Given the description of an element on the screen output the (x, y) to click on. 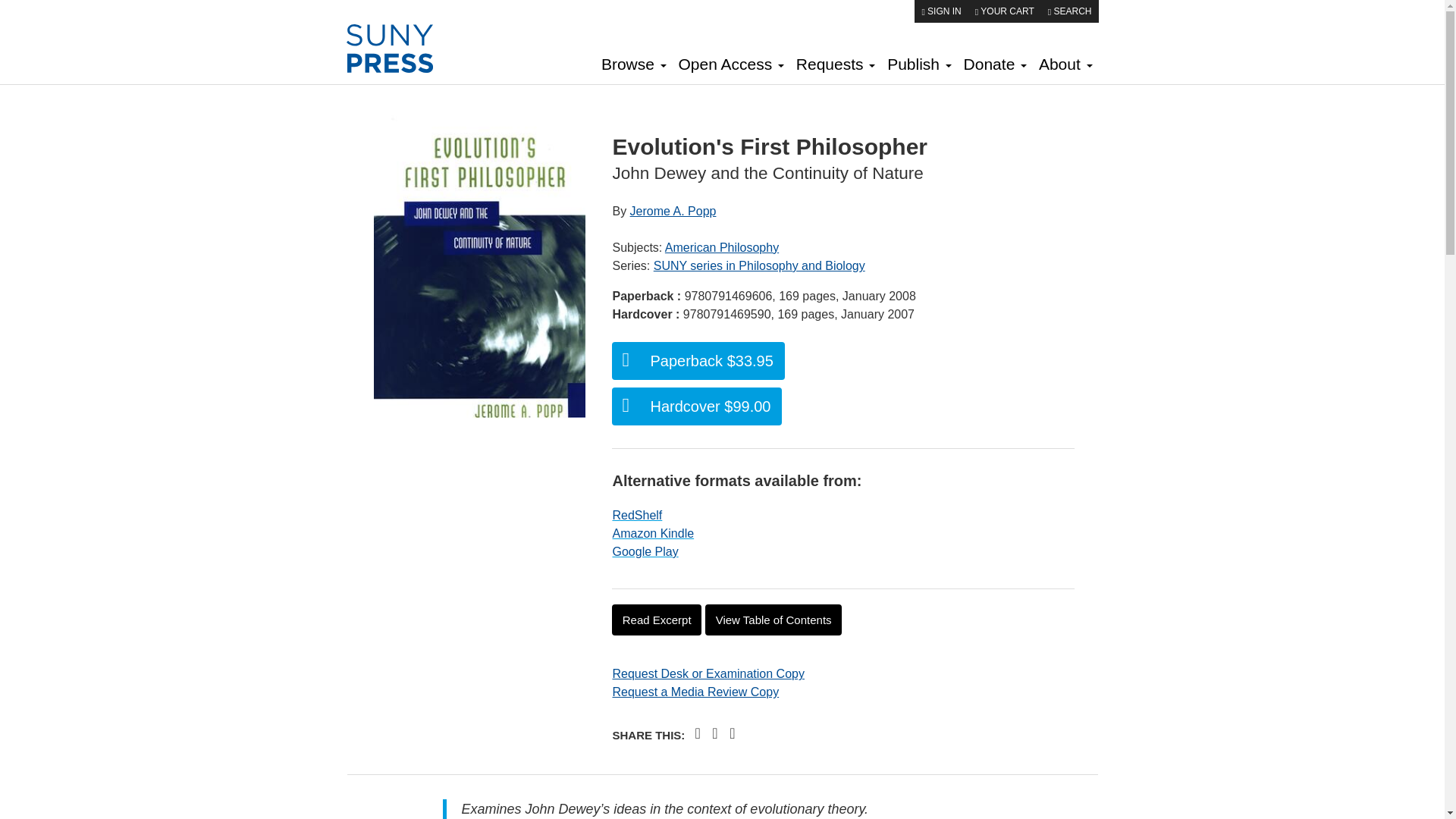
Publish (918, 66)
Browse (633, 66)
SUNY Press (400, 48)
Open Access (731, 66)
Requests (835, 66)
